Given the description of an element on the screen output the (x, y) to click on. 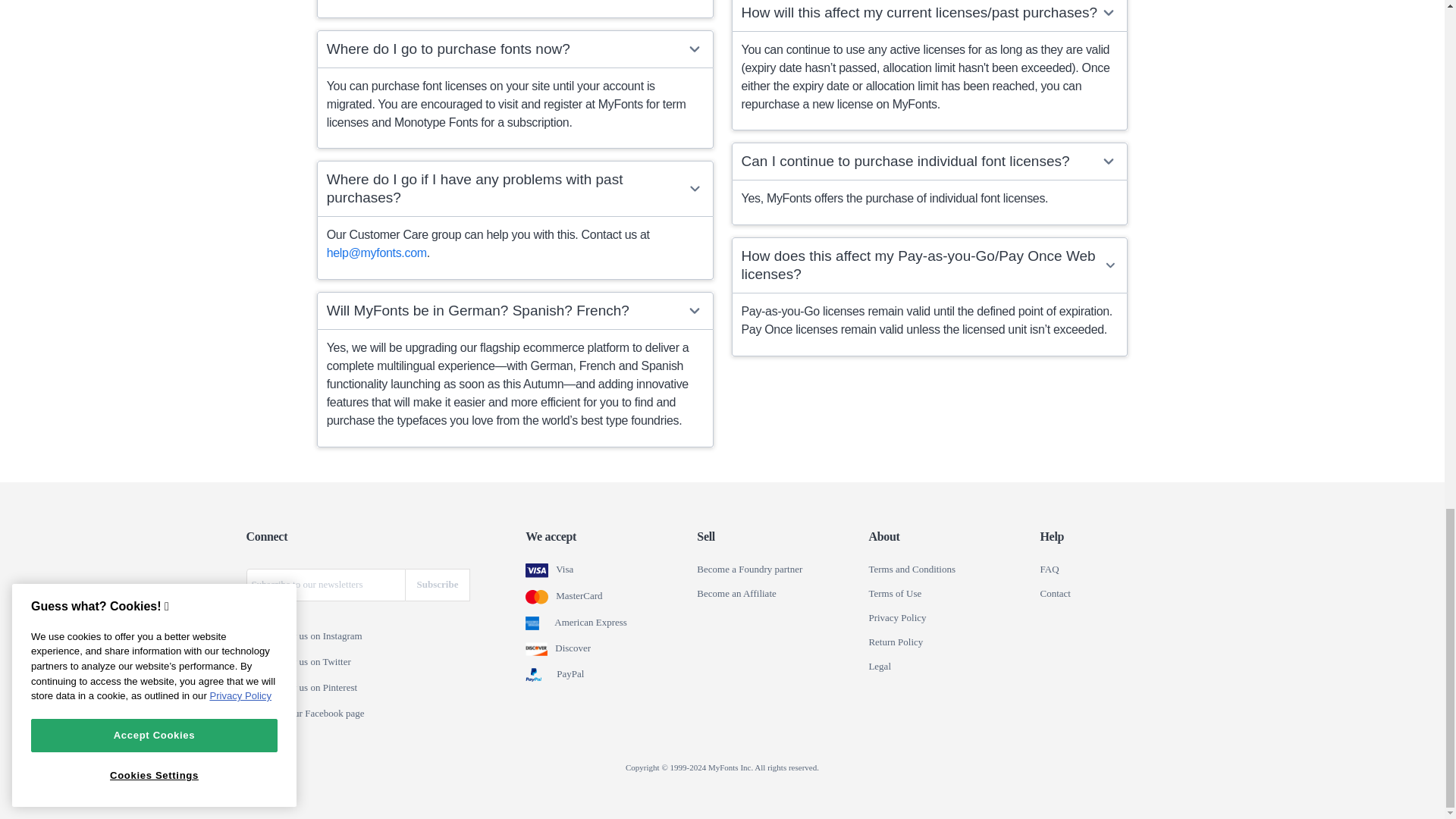
Follow us on Instagram (256, 636)
Become a Foundry partner (749, 569)
MyFonts Legal (879, 666)
MyFonts Return Policy (895, 642)
Join our affiliate program (736, 593)
Like our Facebook page (256, 714)
Follow us on Pinterest (256, 688)
MyFonts Contact (1054, 593)
Please fill out this field (325, 584)
MyFonts Terms of Use (894, 593)
MyFonts Privacy Policy (896, 617)
Follow us on Twitter (256, 662)
MyFonts FAQ (1048, 569)
MyFonts Terms and Conditions (911, 569)
